Given the description of an element on the screen output the (x, y) to click on. 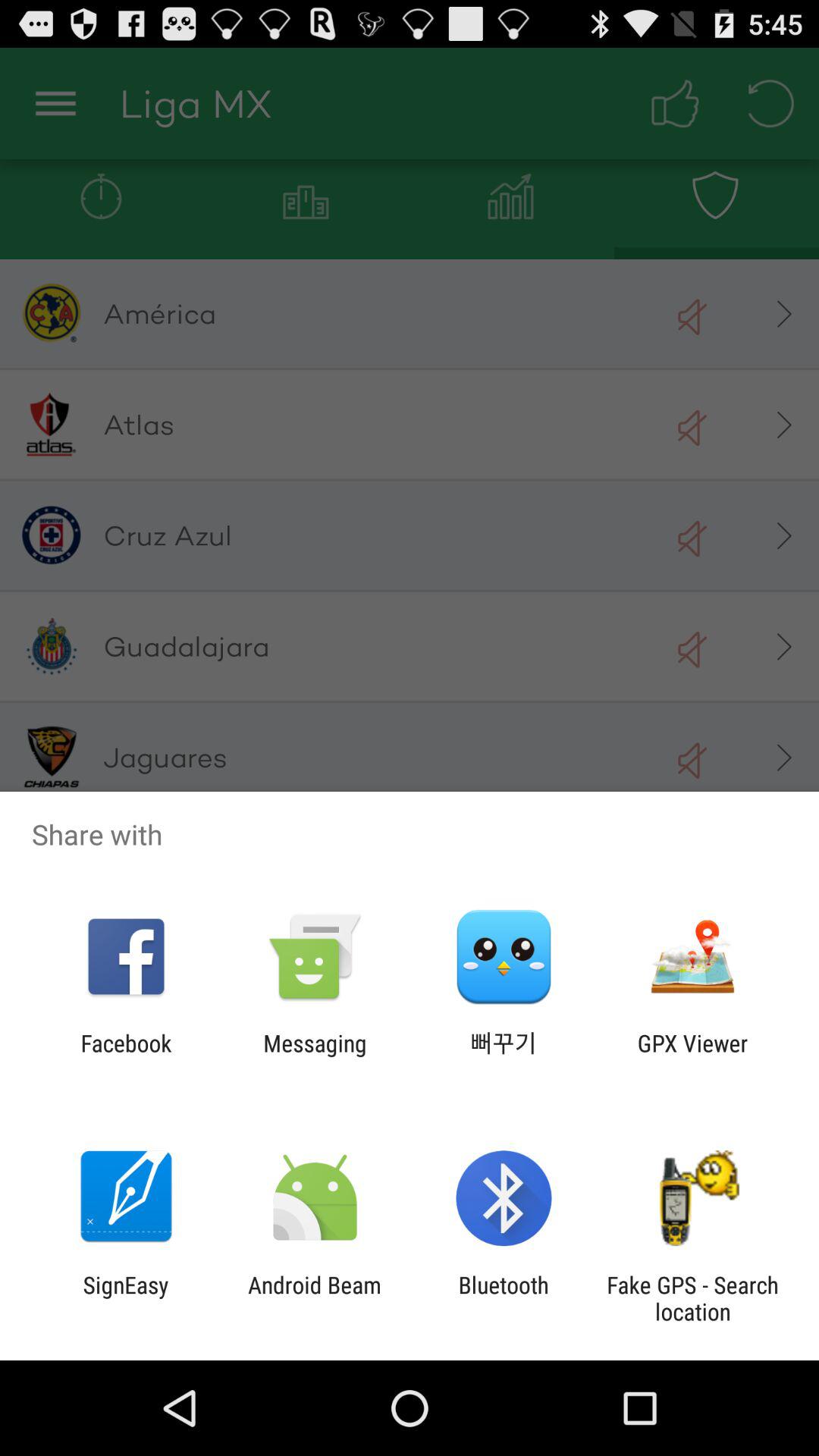
select the fake gps search icon (692, 1298)
